Given the description of an element on the screen output the (x, y) to click on. 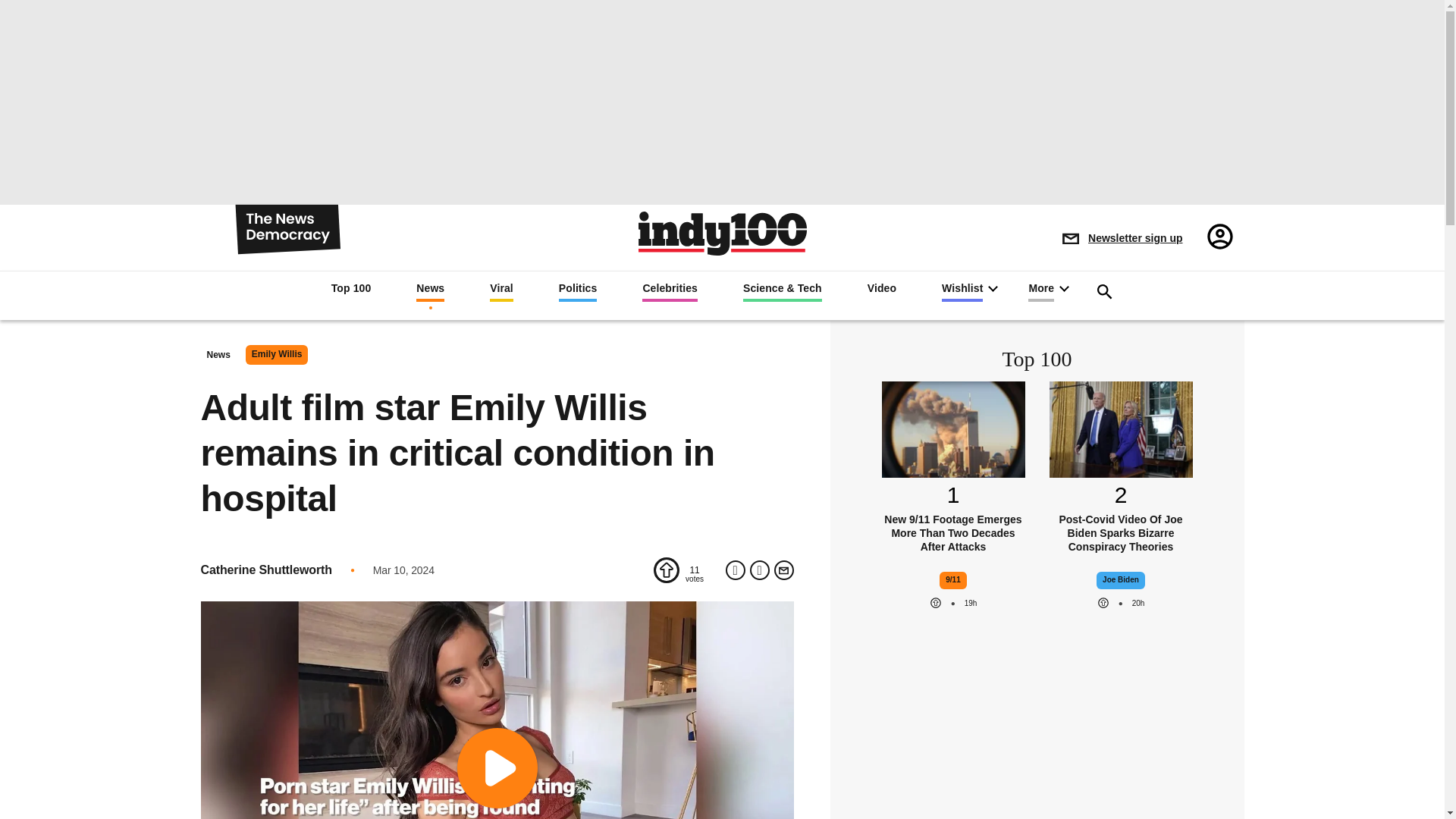
Top 100 (351, 289)
News (430, 291)
Politics (577, 291)
Indy100 logo (722, 232)
Newsletter sign up (1122, 238)
Video (881, 289)
Viral (501, 291)
Celebrities (669, 291)
